Given the description of an element on the screen output the (x, y) to click on. 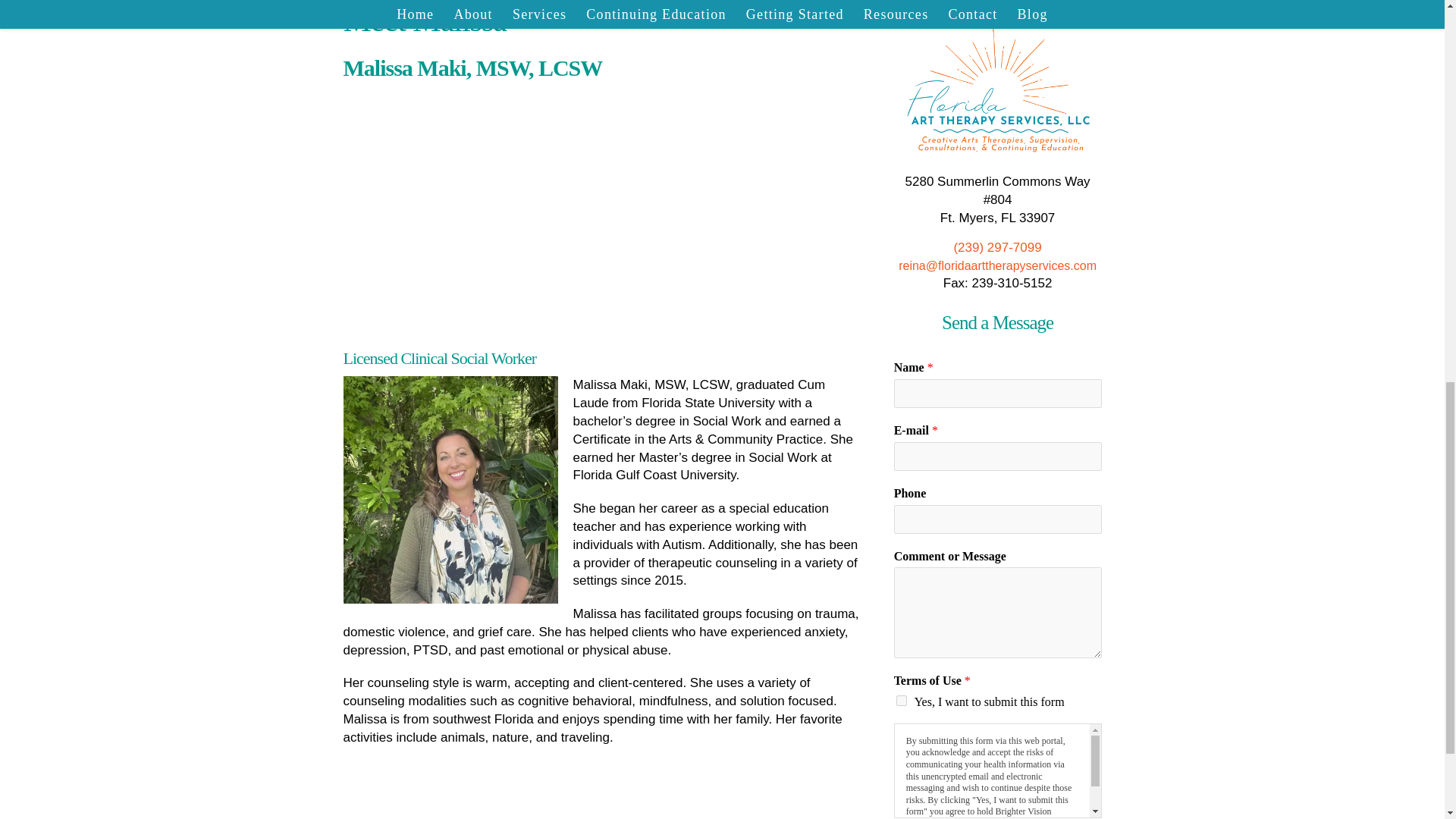
YouTube video player (687, 208)
YouTube video player (456, 208)
Yes, I want to submit this form (901, 700)
